Given the description of an element on the screen output the (x, y) to click on. 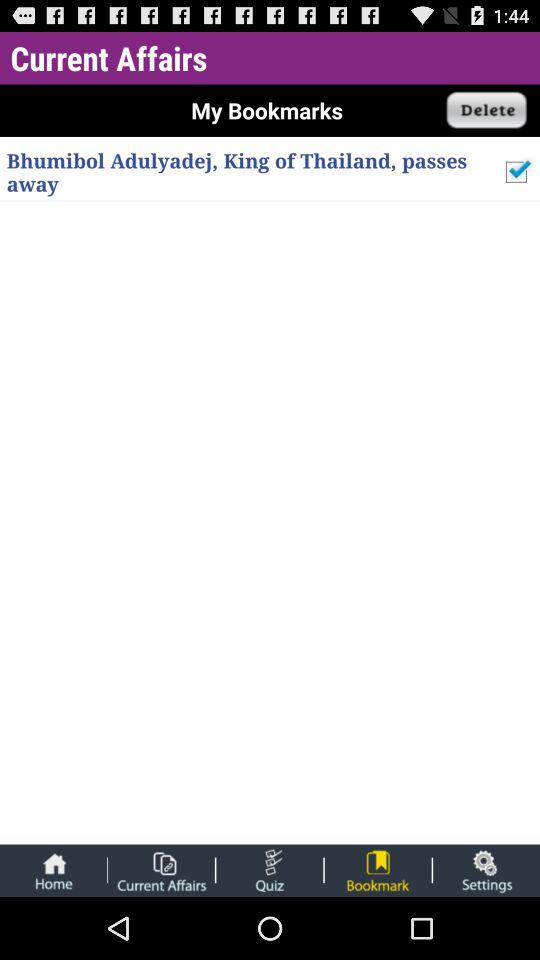
delete your selection (487, 109)
